Given the description of an element on the screen output the (x, y) to click on. 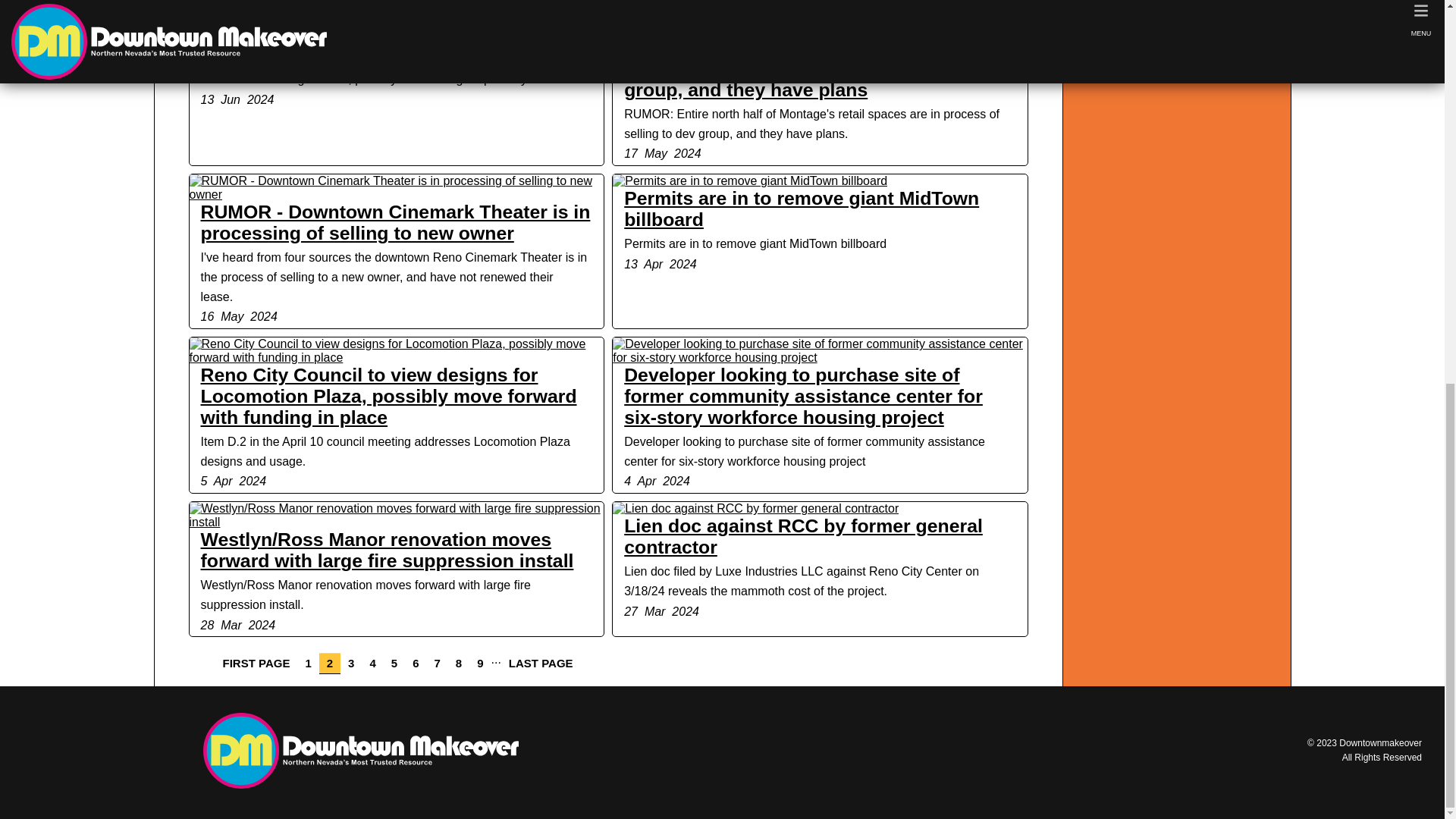
8 (458, 662)
Lien doc against RCC by former general contractor (803, 536)
Lien doc against RCC by former general contractor (755, 508)
9 (479, 662)
FIRST PAGE (256, 662)
LAST PAGE (540, 662)
